Given the description of an element on the screen output the (x, y) to click on. 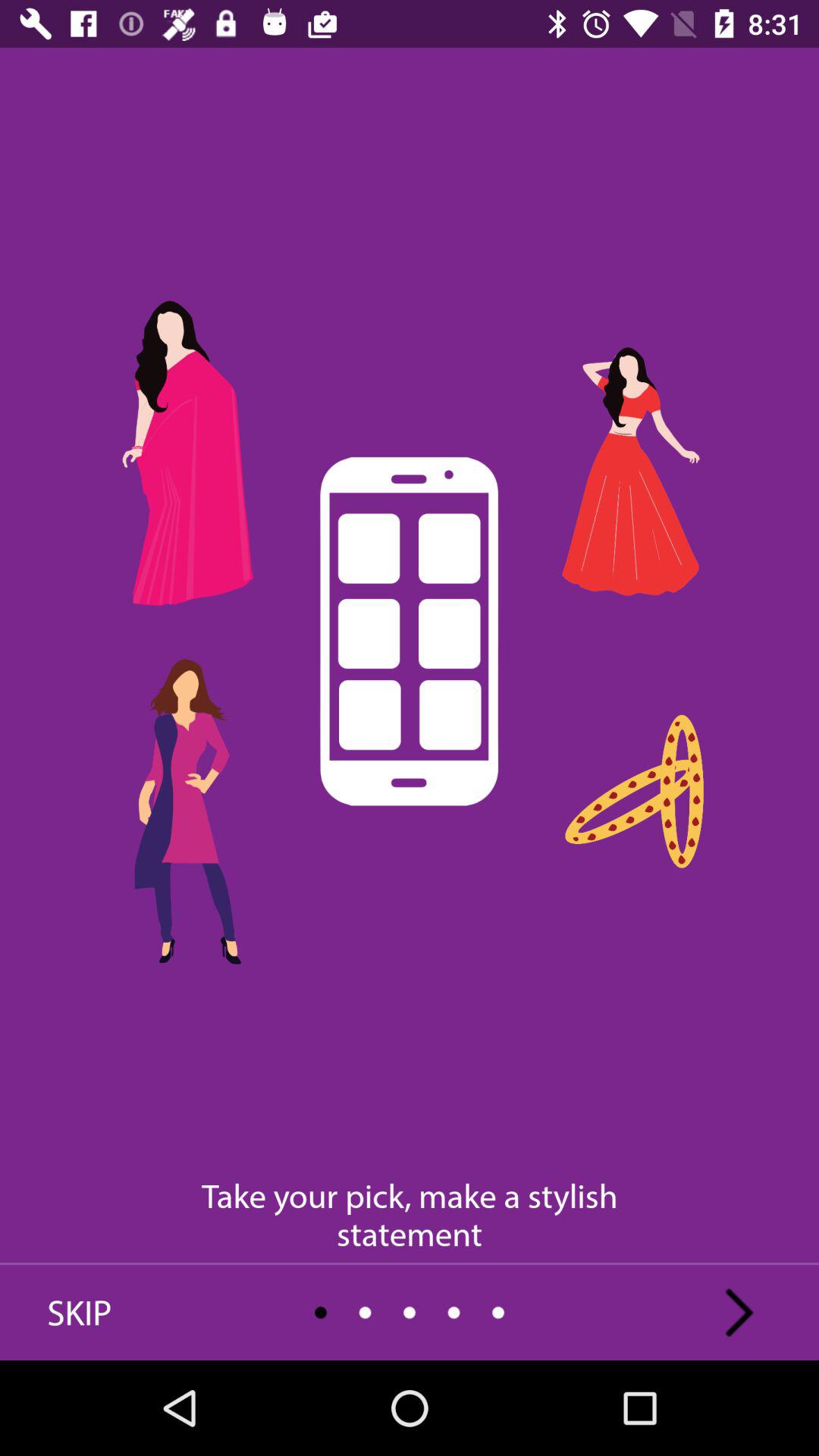
choose the icon to the left of take your pick icon (79, 1312)
